Given the description of an element on the screen output the (x, y) to click on. 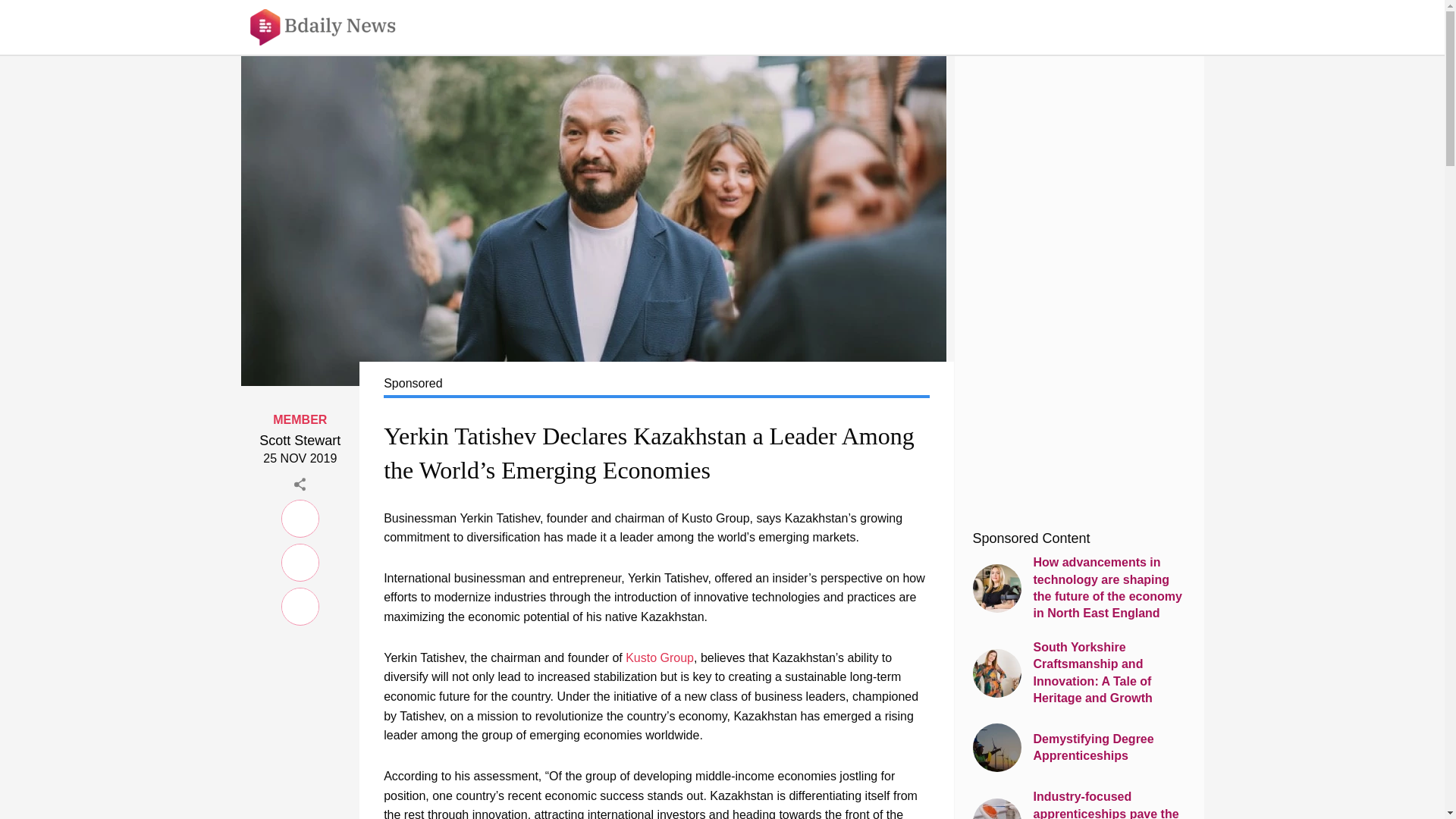
Bdaily (333, 27)
Kusto Group (660, 657)
Sponsored (656, 385)
Scott Stewart (299, 440)
LinkedIn (300, 516)
Demystifying Degree Apprenticeships (1078, 747)
Facebook (300, 560)
